Given the description of an element on the screen output the (x, y) to click on. 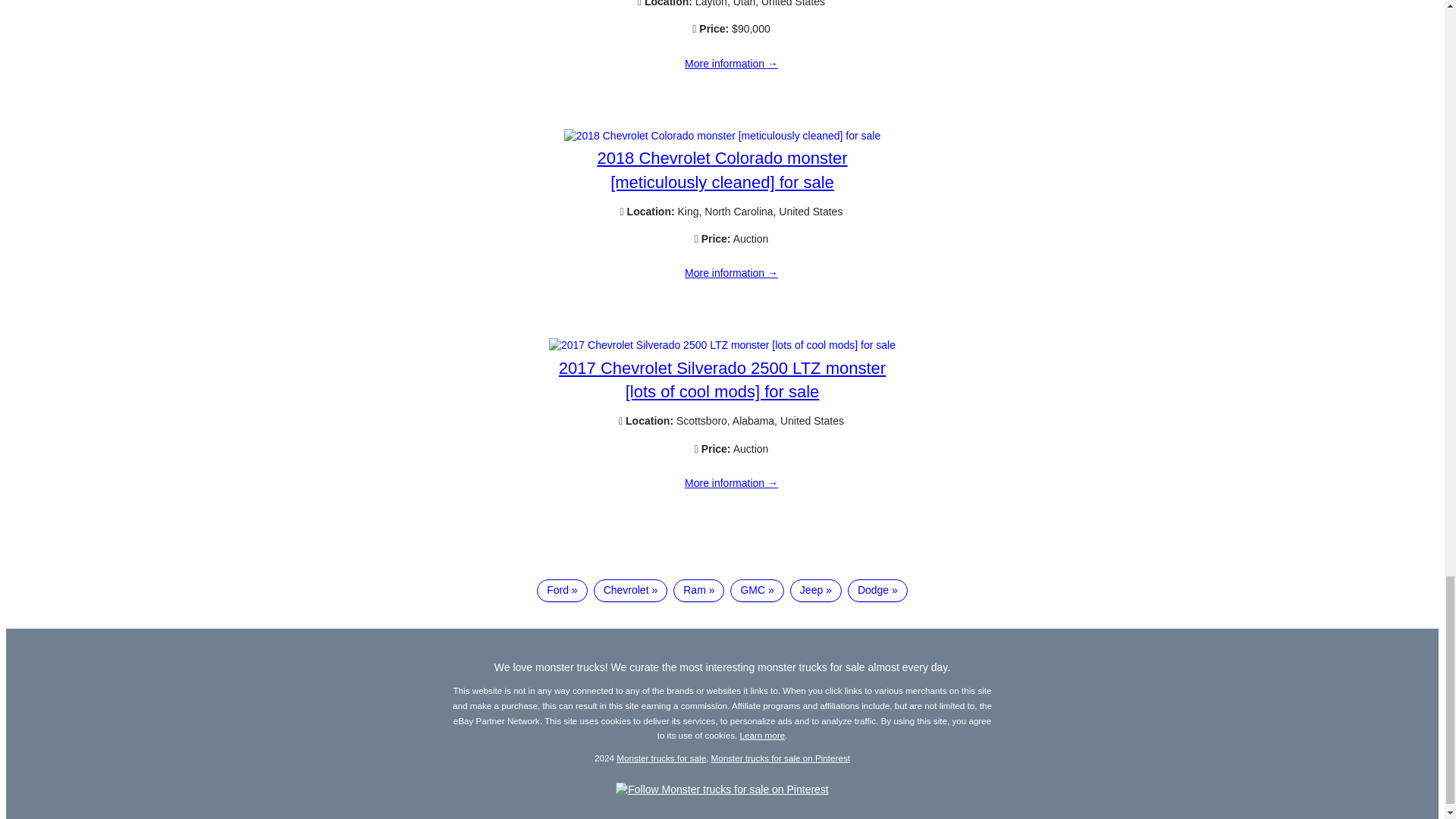
Ram (697, 590)
Dodge (877, 590)
Follow Monster trucks for sale on Pinterest (721, 788)
Chevrolet (631, 590)
Ford (561, 590)
Learn more (762, 735)
Monster trucks for sale (660, 757)
Monster trucks for sale on Pinterest (780, 757)
1955 Chevrolet Apache for sale (731, 63)
Jeep (815, 590)
GMC (756, 590)
